Given the description of an element on the screen output the (x, y) to click on. 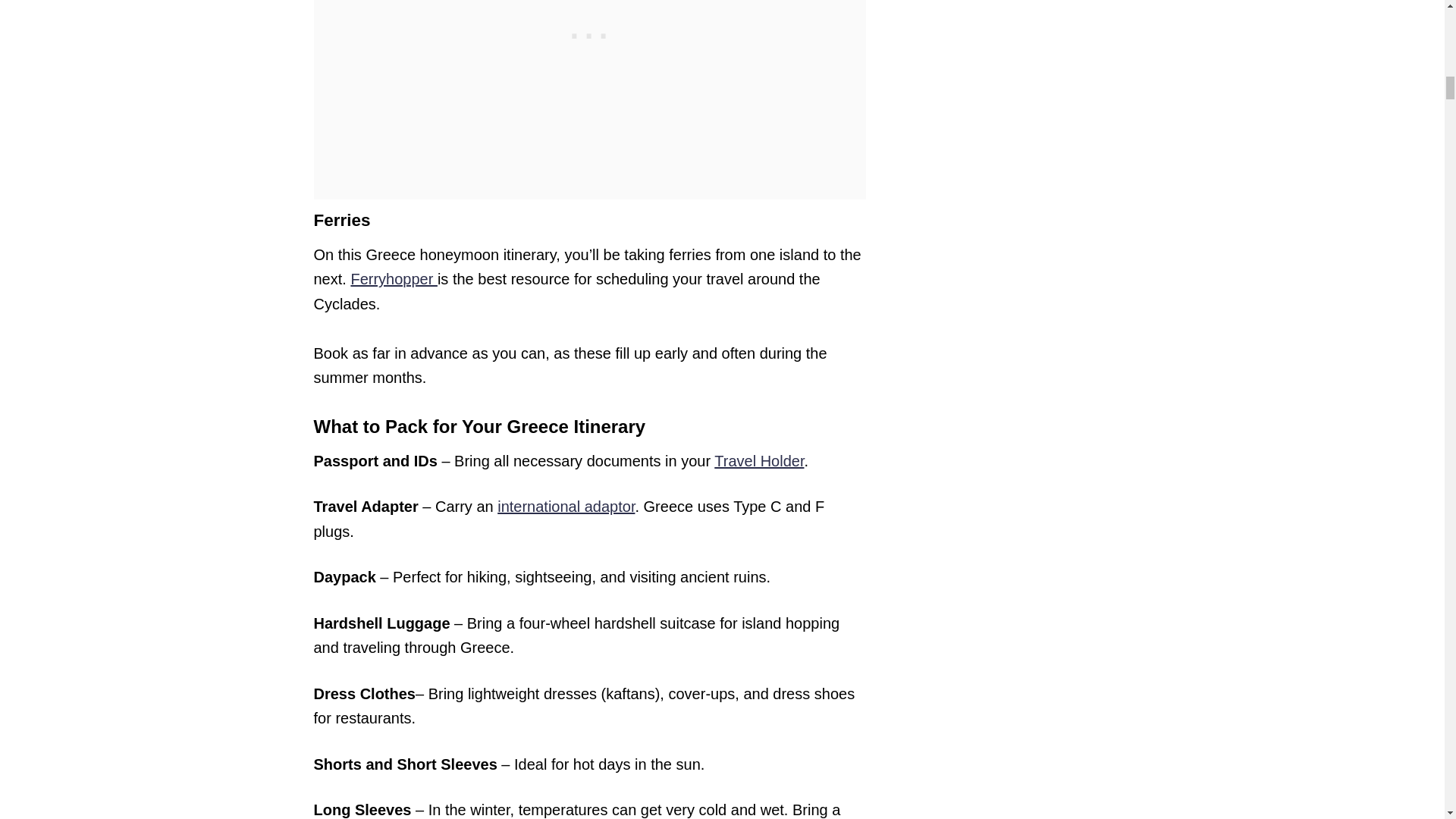
Travel Holder (758, 460)
international adaptor (565, 506)
Ferryhopper (394, 279)
